Given the description of an element on the screen output the (x, y) to click on. 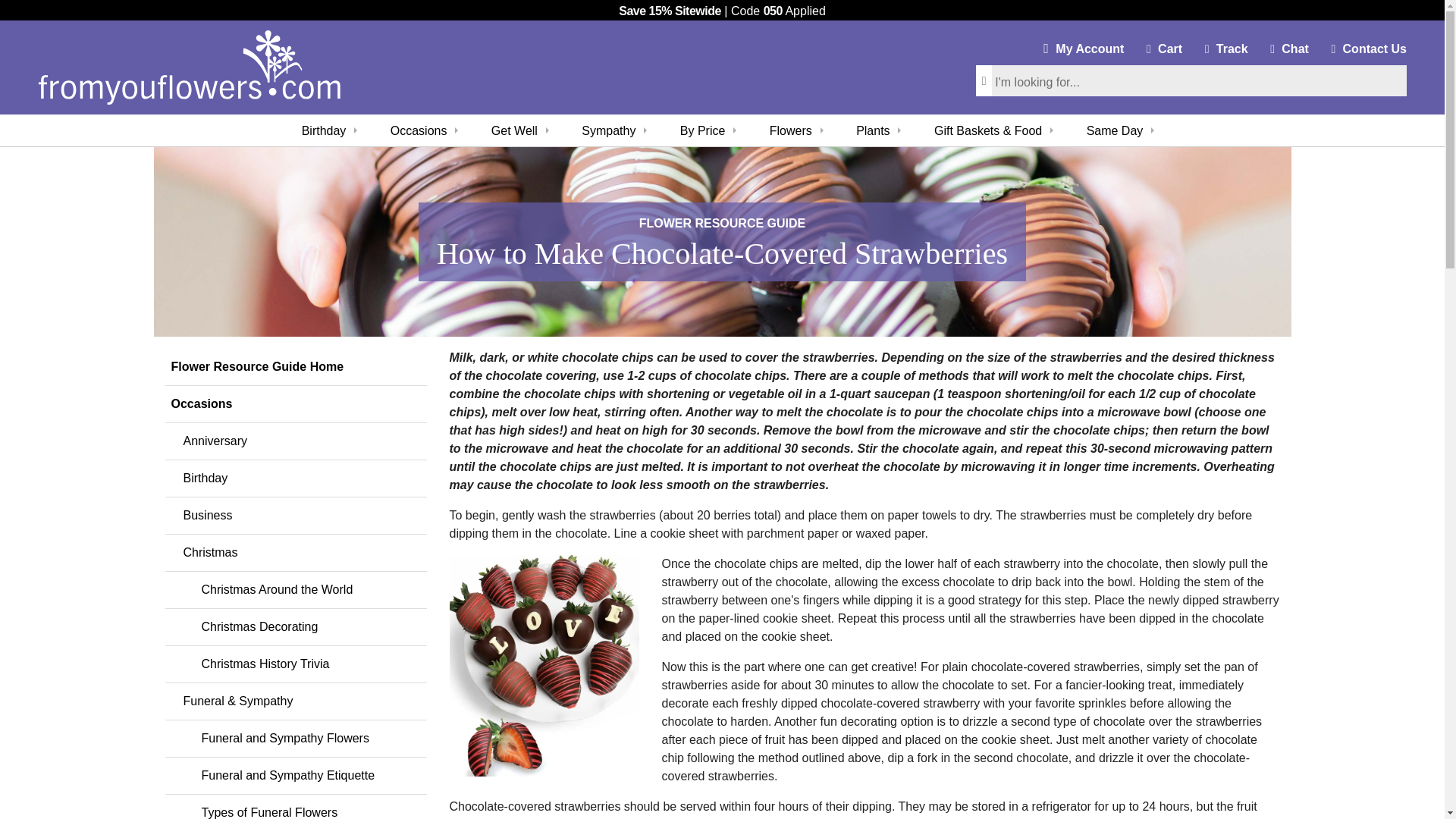
Birthday (323, 130)
Occasions (418, 130)
Track (1225, 47)
Same Day (1082, 47)
Chat (1114, 130)
